Given the description of an element on the screen output the (x, y) to click on. 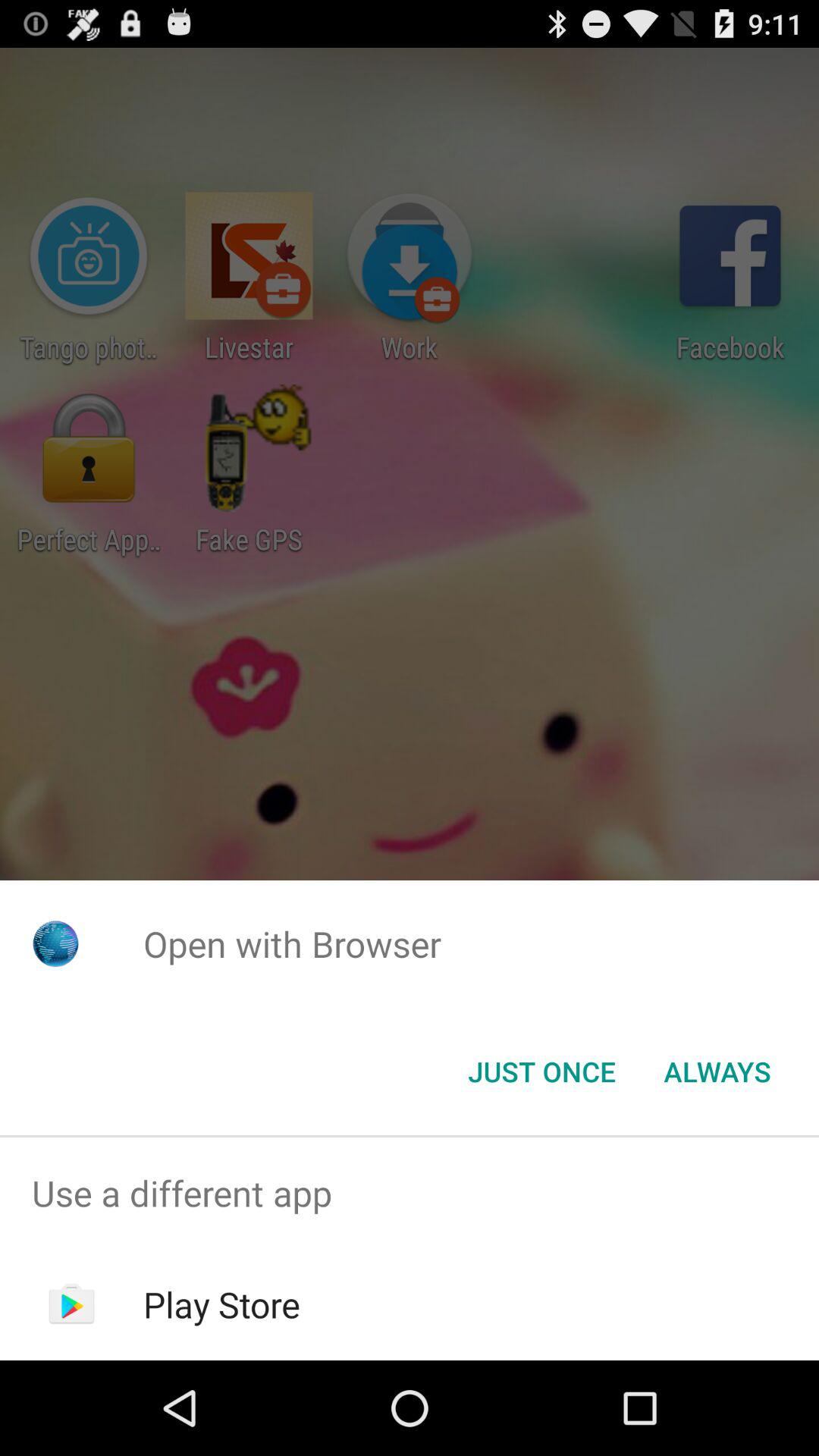
tap icon below the use a different (221, 1304)
